Given the description of an element on the screen output the (x, y) to click on. 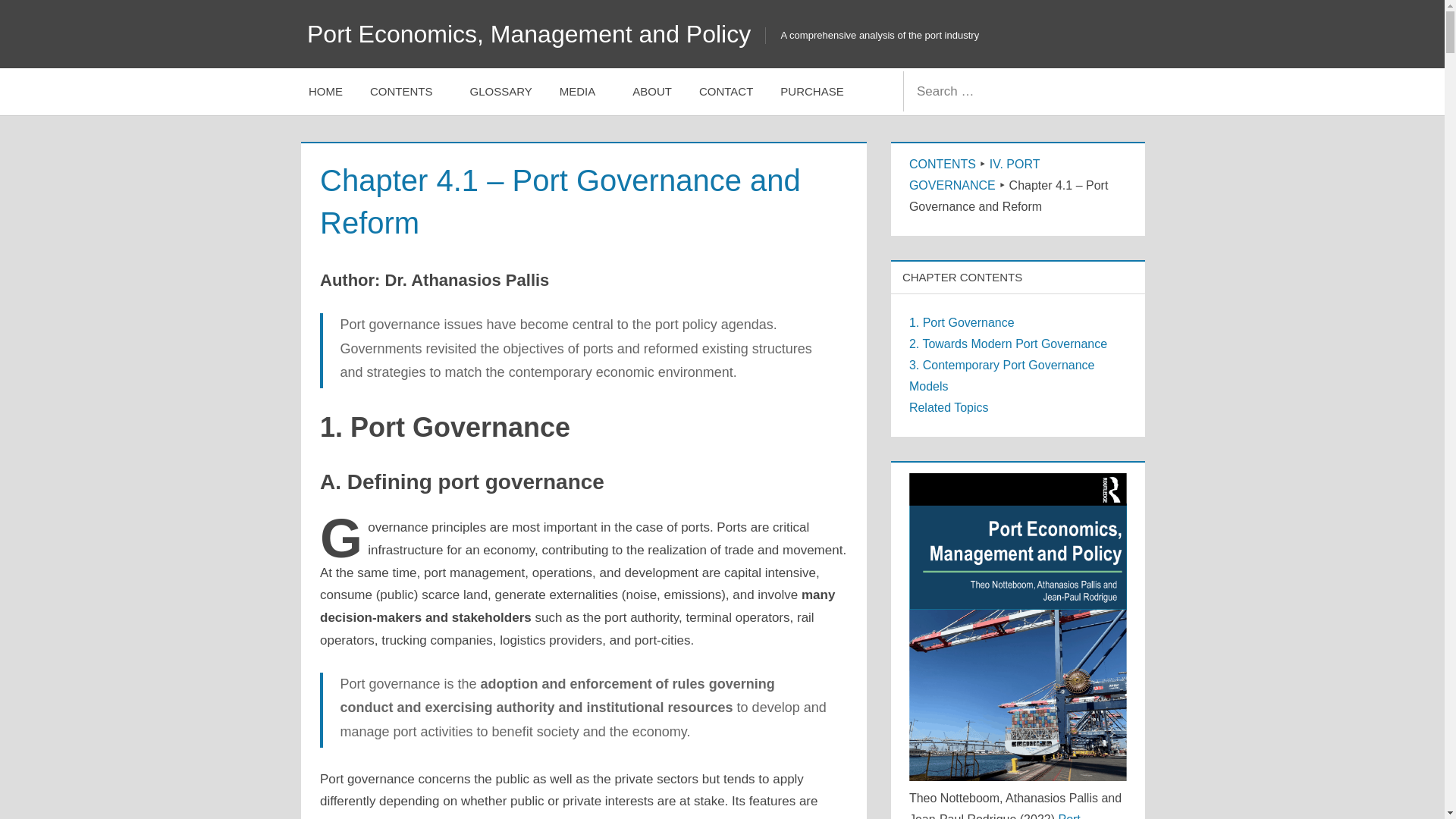
CONTENTS (406, 91)
Port Economics, Management and Policy (529, 33)
GLOSSARY (501, 91)
PURCHASE (812, 91)
Search for: (997, 91)
MEDIA (583, 91)
HOME (325, 91)
CONTACT (726, 91)
Search (1118, 91)
ABOUT (651, 91)
